Given the description of an element on the screen output the (x, y) to click on. 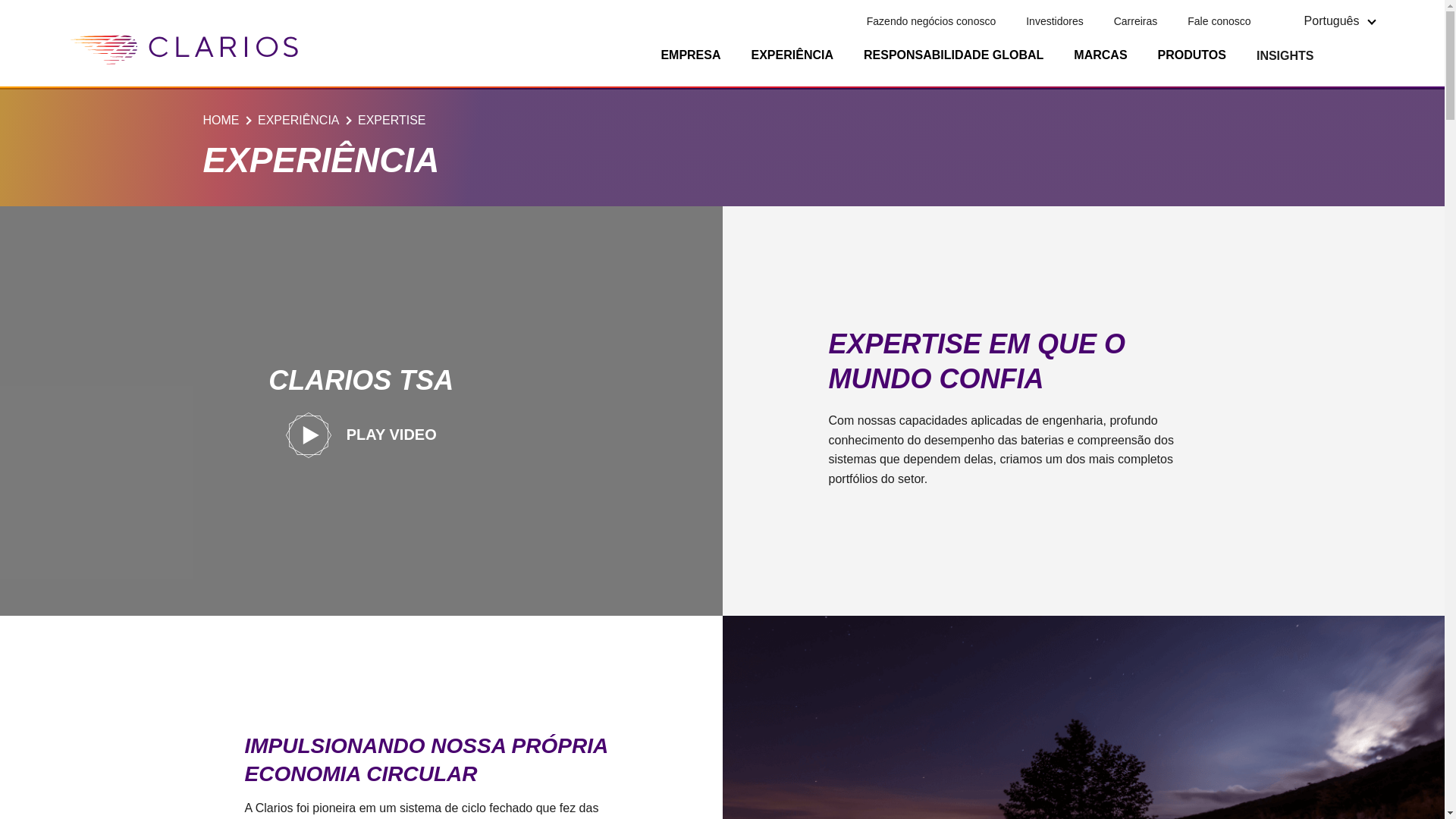
RESPONSABILIDADE GLOBAL (953, 55)
Investidores (1054, 21)
MARCAS (1100, 55)
Fale conosco (1219, 21)
PRODUTOS (1191, 55)
Carreiras (1135, 21)
EMPRESA (690, 55)
